Given the description of an element on the screen output the (x, y) to click on. 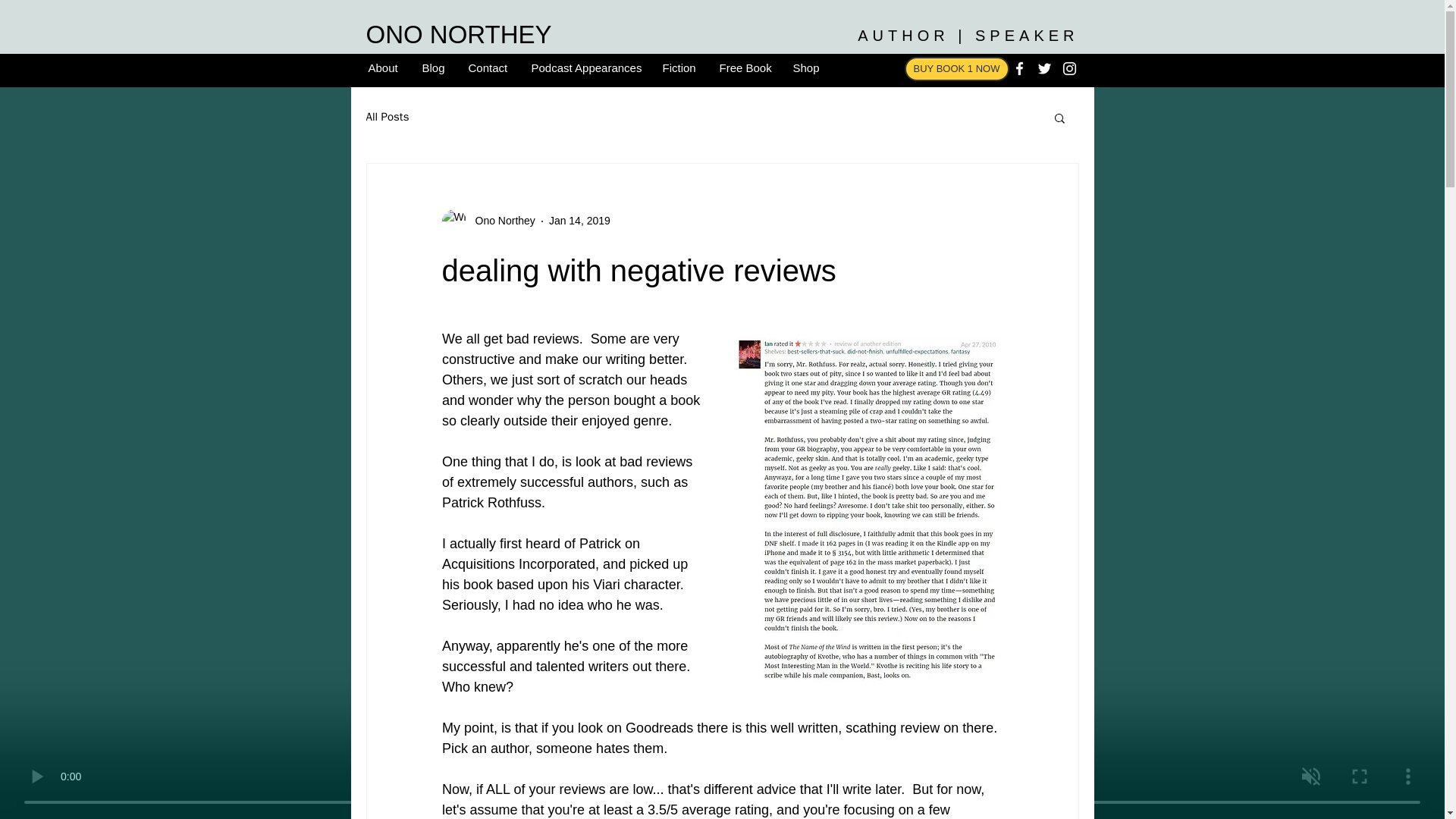
Ono Northey (487, 221)
Jan 14, 2019 (579, 220)
Podcast Appearances (584, 67)
Shop (804, 67)
About (383, 67)
Contact (488, 67)
ONO NORTHEY (458, 34)
Fiction (678, 67)
Blog (433, 67)
BUY BOOK 1 NOW (956, 68)
Ono Northey (499, 220)
Free Book (744, 67)
All Posts (387, 116)
